Given the description of an element on the screen output the (x, y) to click on. 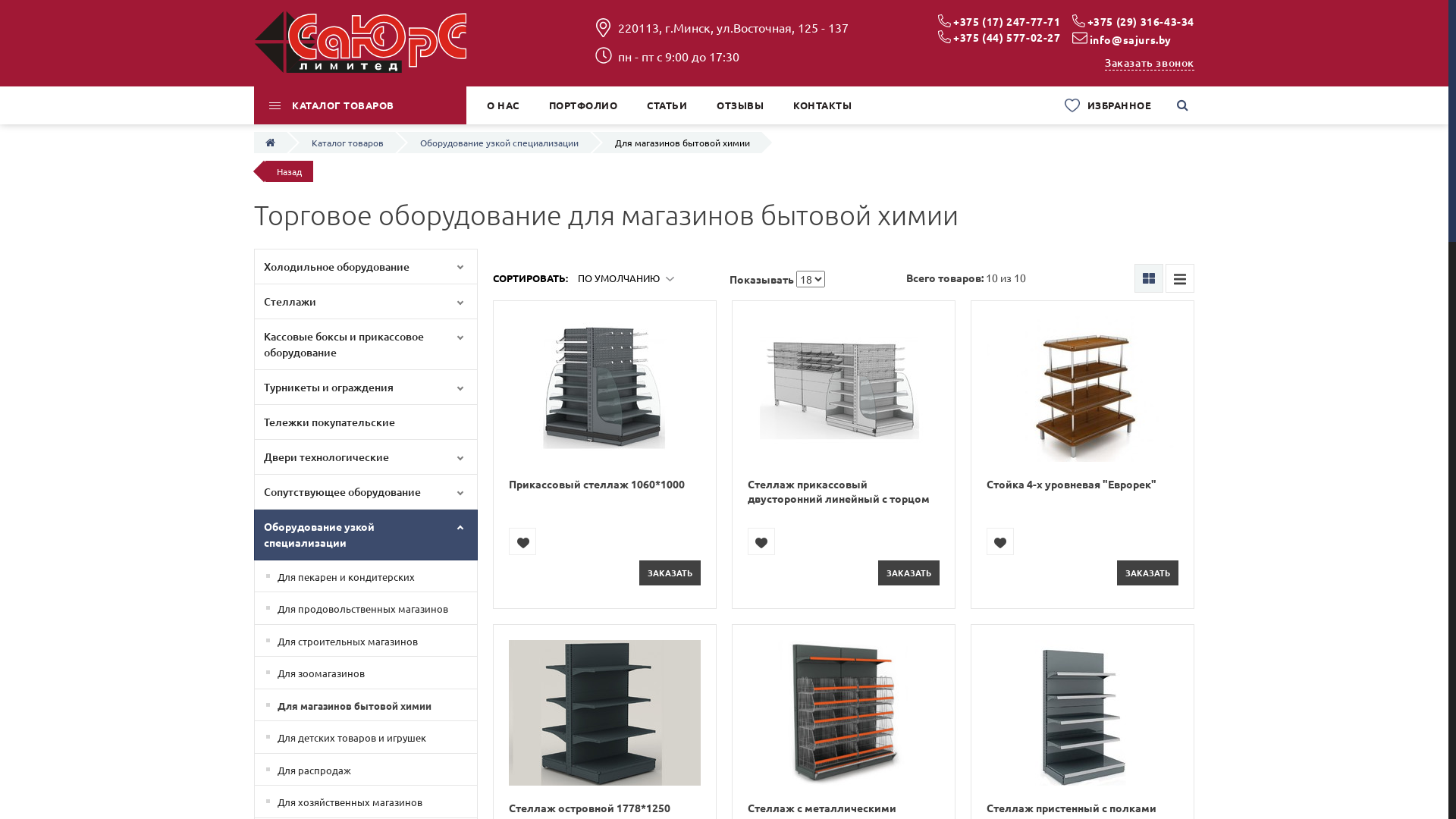
+375 (29) 316-43-34 Element type: text (1140, 21)
info@sajurs.by Element type: text (1130, 39)
+375 (44) 577-02-27 Element type: text (1006, 36)
+375 (17) 247-77-71 Element type: text (1006, 21)
